Given the description of an element on the screen output the (x, y) to click on. 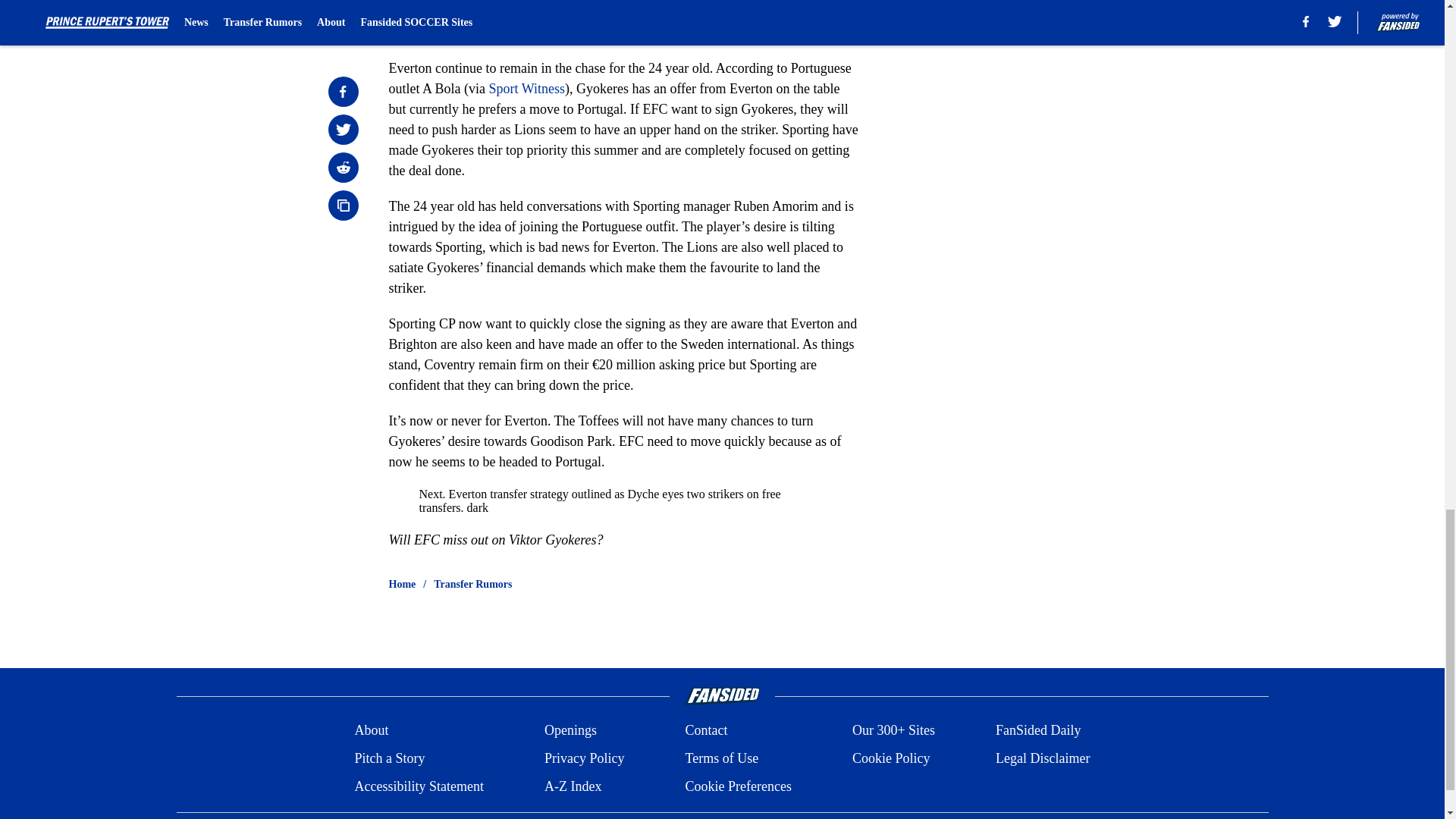
Openings (570, 730)
Accessibility Statement (418, 786)
FanSided Daily (1038, 730)
Sport Witness (525, 88)
Home (401, 584)
A-Z Index (572, 786)
Cookie Preferences (737, 786)
Legal Disclaimer (1042, 758)
About (370, 730)
Contact (705, 730)
